Given the description of an element on the screen output the (x, y) to click on. 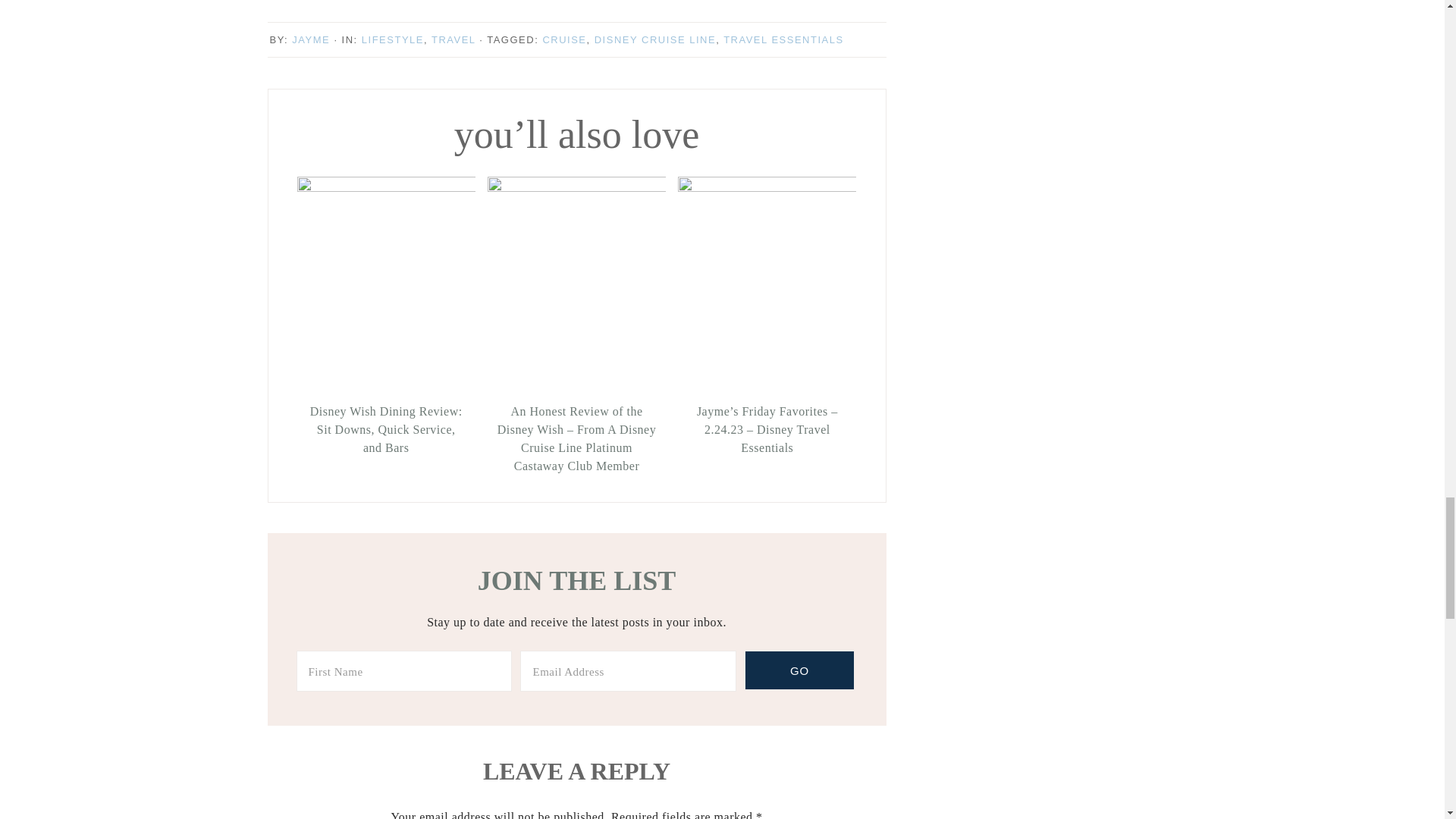
Go (798, 670)
